Given the description of an element on the screen output the (x, y) to click on. 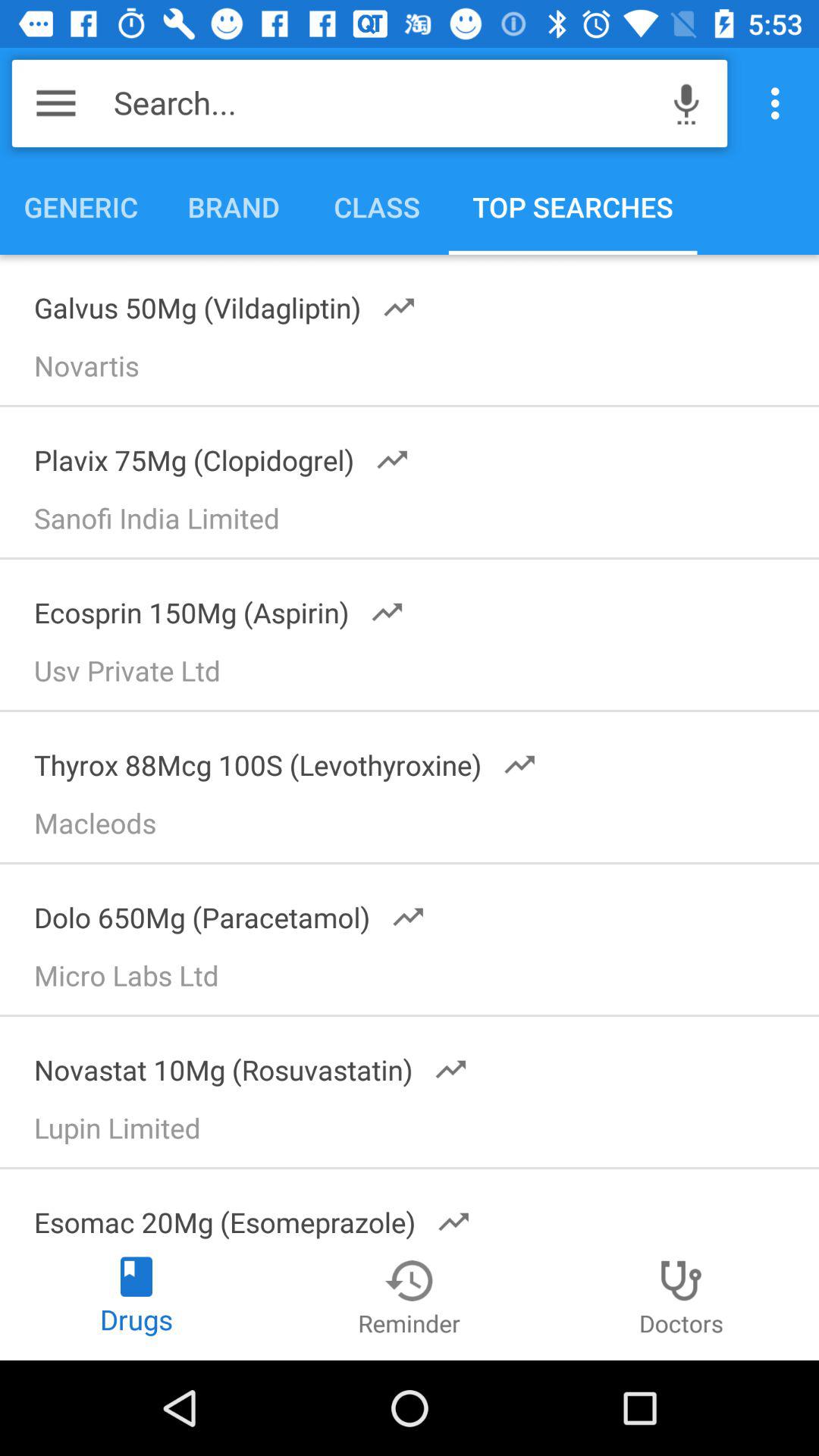
jump to the lupin limited (416, 1132)
